Given the description of an element on the screen output the (x, y) to click on. 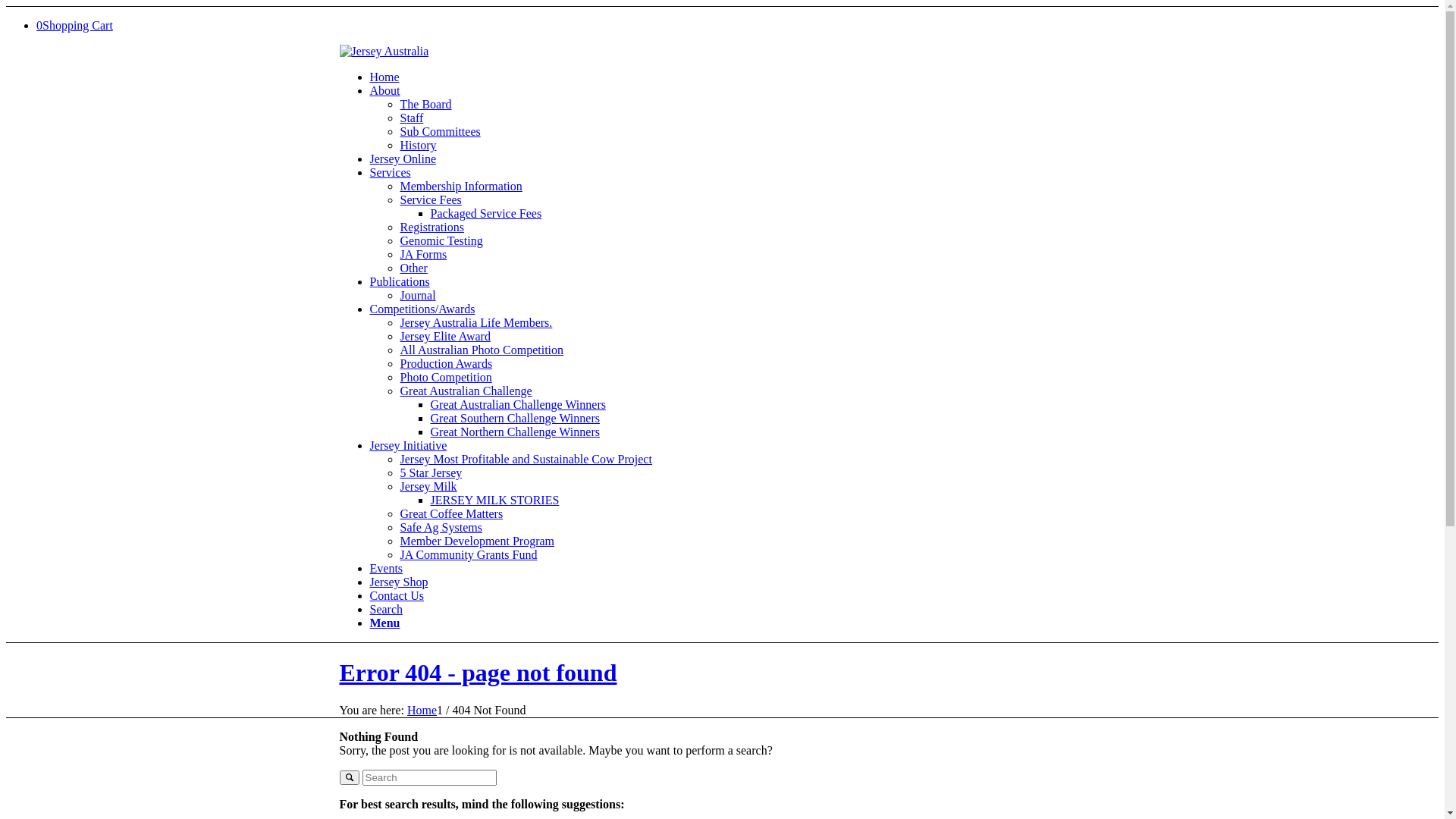
0Shopping Cart Element type: text (74, 24)
All Australian Photo Competition Element type: text (482, 349)
Jersey Initiative Element type: text (408, 445)
Competitions/Awards Element type: text (422, 308)
5 Star Jersey Element type: text (431, 472)
Great Northern Challenge Winners Element type: text (514, 431)
Jersey Online Element type: text (403, 158)
Publications Element type: text (399, 281)
Jersey Shop Element type: text (399, 581)
Staff Element type: text (411, 117)
Great Australian Challenge Element type: text (466, 390)
Packaged Service Fees Element type: text (486, 213)
Search Element type: text (386, 608)
About Element type: text (385, 90)
History Element type: text (418, 144)
Member Development Program Element type: text (477, 540)
Genomic Testing Element type: text (441, 240)
Home Element type: text (384, 76)
Journal Element type: text (418, 294)
Sub Committees Element type: text (440, 131)
Services Element type: text (390, 172)
Great Australian Challenge Winners Element type: text (517, 404)
Great Coffee Matters Element type: text (451, 513)
Registrations Element type: text (432, 226)
JA Community Grants Fund Element type: text (468, 554)
Menu Element type: text (385, 622)
Safe Ag Systems Element type: text (441, 526)
Home Element type: text (421, 709)
Production Awards Element type: text (446, 363)
The Board Element type: text (425, 103)
Jersey Elite Award Element type: text (445, 335)
Error 404 - page not found Element type: text (478, 672)
Membership Information Element type: text (461, 185)
JERSEY MILK STORIES Element type: text (494, 499)
Contact Us Element type: text (397, 595)
Jersey Milk Element type: text (428, 486)
Other Element type: text (413, 267)
Jersey Australia Life Members. Element type: text (476, 322)
Service Fees Element type: text (430, 199)
Photo Competition Element type: text (446, 376)
Jersey Most Profitable and Sustainable Cow Project Element type: text (526, 458)
Great Southern Challenge Winners Element type: text (514, 417)
JA Forms Element type: text (423, 253)
Events Element type: text (386, 567)
